Given the description of an element on the screen output the (x, y) to click on. 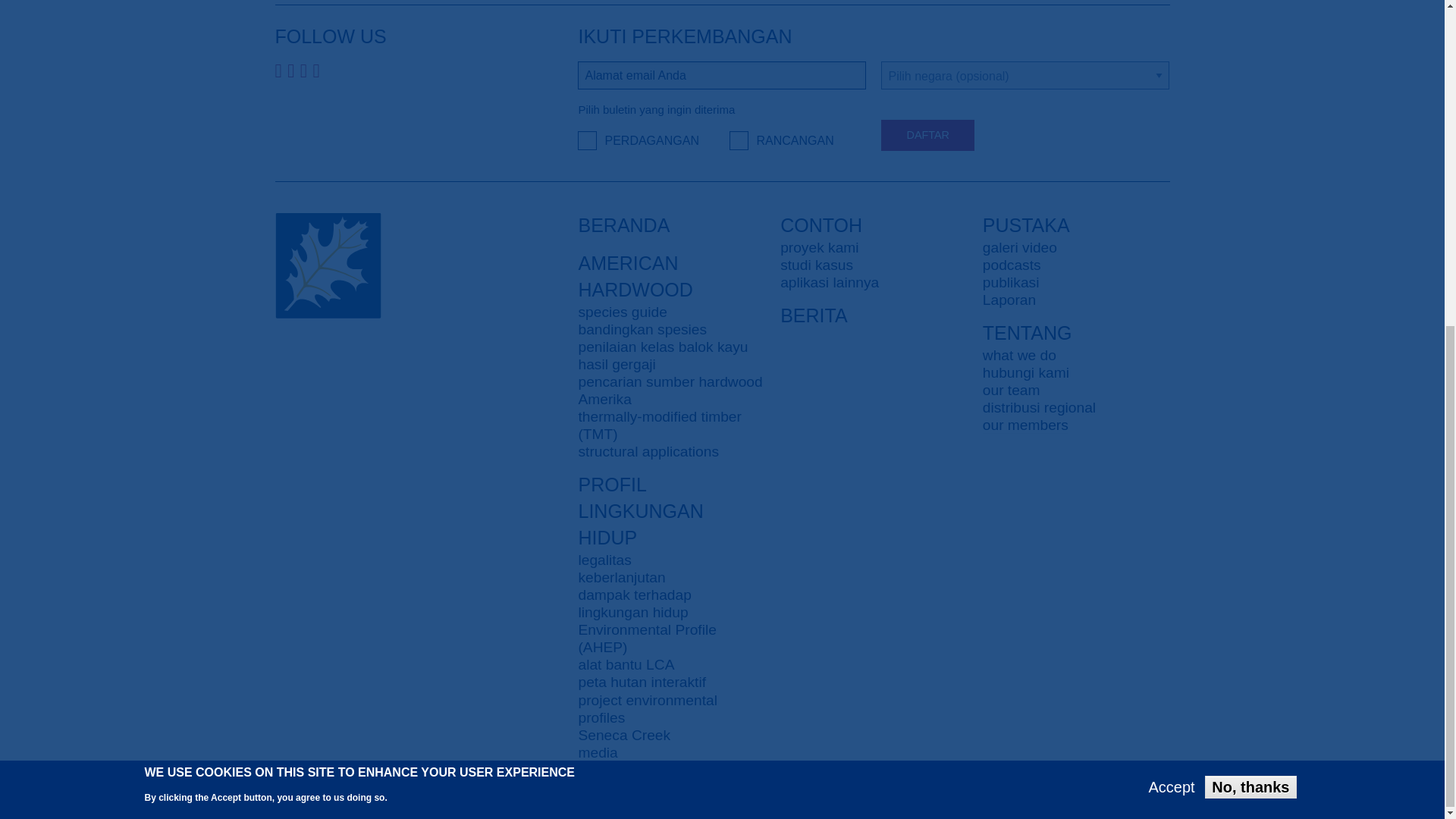
No, thanks (1250, 249)
Accept (1171, 249)
Daftar (927, 134)
